Given the description of an element on the screen output the (x, y) to click on. 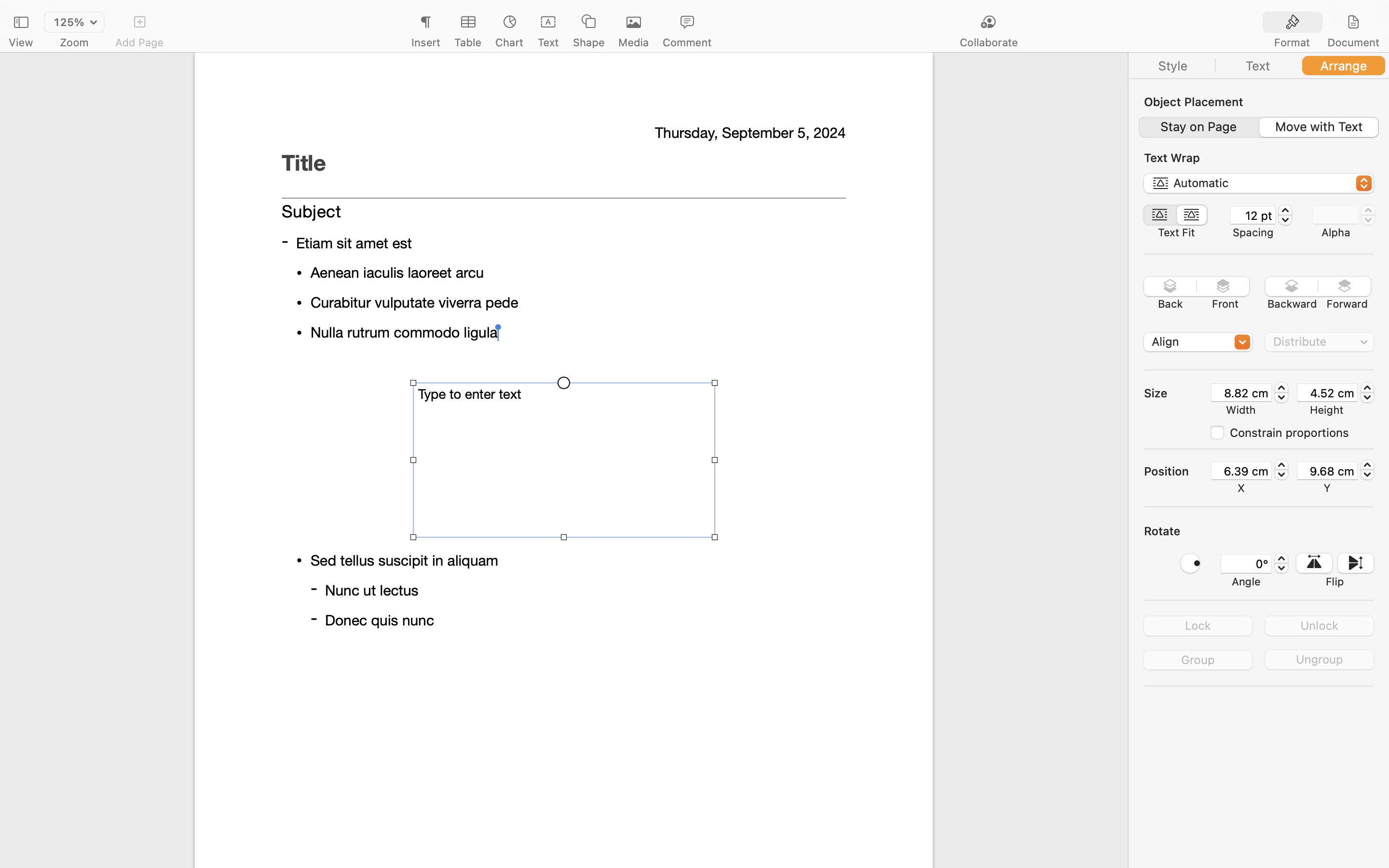
9.68 cm Element type: AXTextField (1327, 470)
Learn More Element type: AXStaticText (562, 309)
Position Element type: AXStaticText (1176, 470)
12.0 Element type: AXIncrementor (1285, 214)
